Given the description of an element on the screen output the (x, y) to click on. 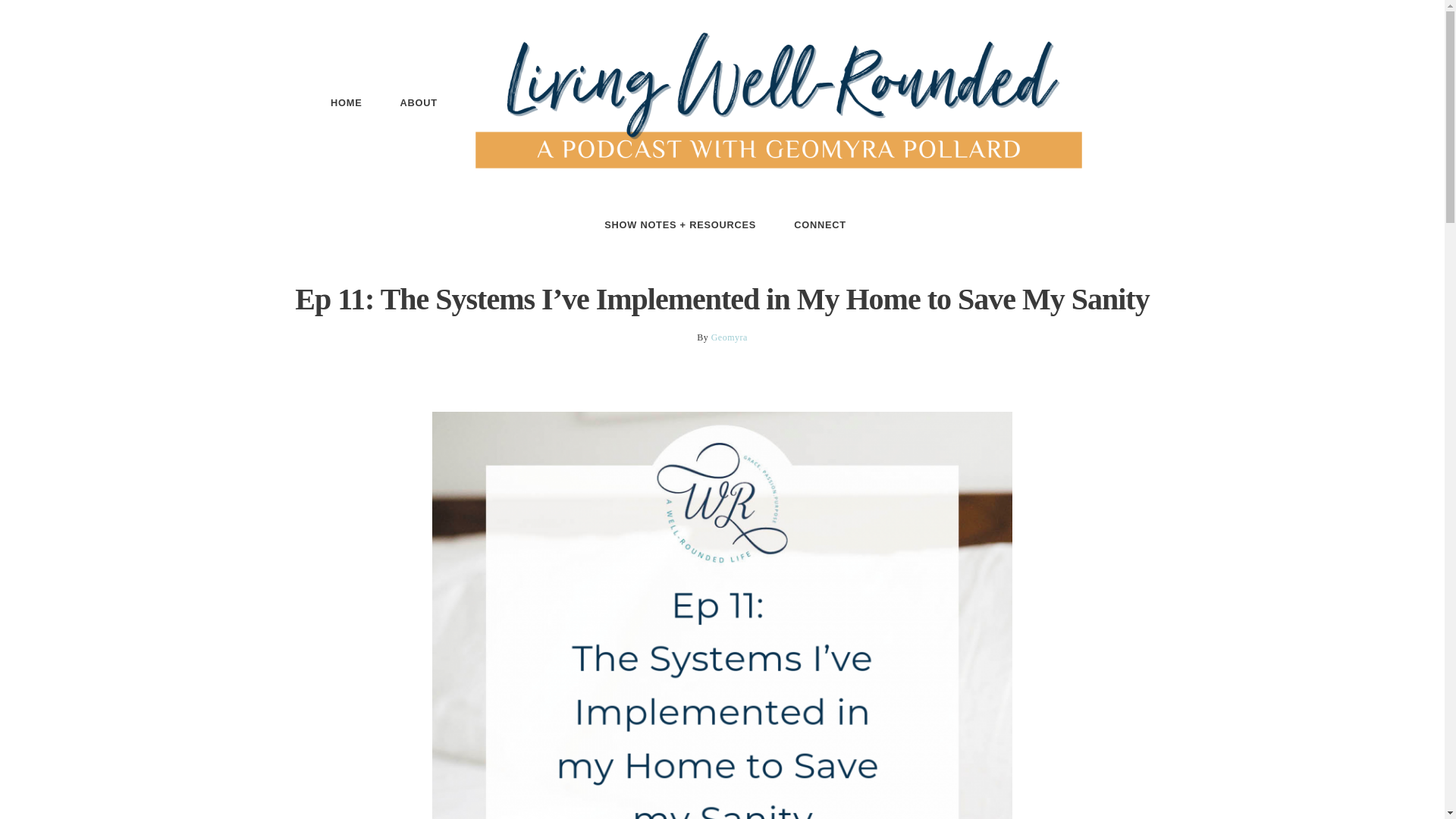
Geomyra (729, 337)
ABOUT (419, 103)
Posts by Geomyra (729, 337)
CONNECT (819, 225)
